Given the description of an element on the screen output the (x, y) to click on. 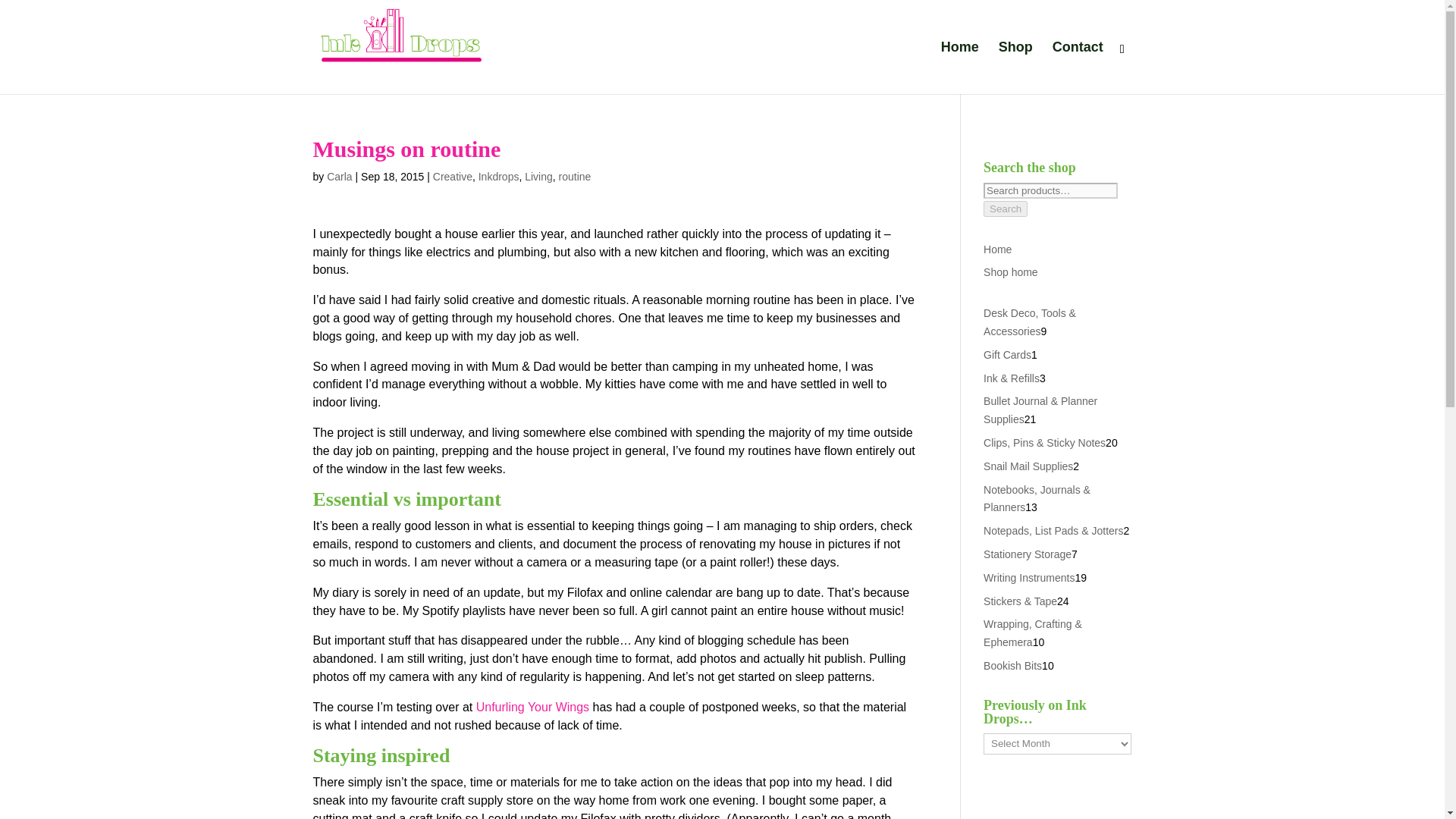
Home (997, 249)
routine (575, 176)
Contact (1077, 67)
Writing Instruments (1029, 595)
Shop home (1011, 272)
Snail Mail Supplies (1028, 466)
Posts by Carla (339, 176)
Unfurling Your Wings (532, 707)
Stationery Storage (1027, 572)
Bookish Bits (1013, 684)
Creative (451, 176)
Gift Cards (1007, 354)
Carla (339, 176)
Living (538, 176)
Search (1005, 208)
